Given the description of an element on the screen output the (x, y) to click on. 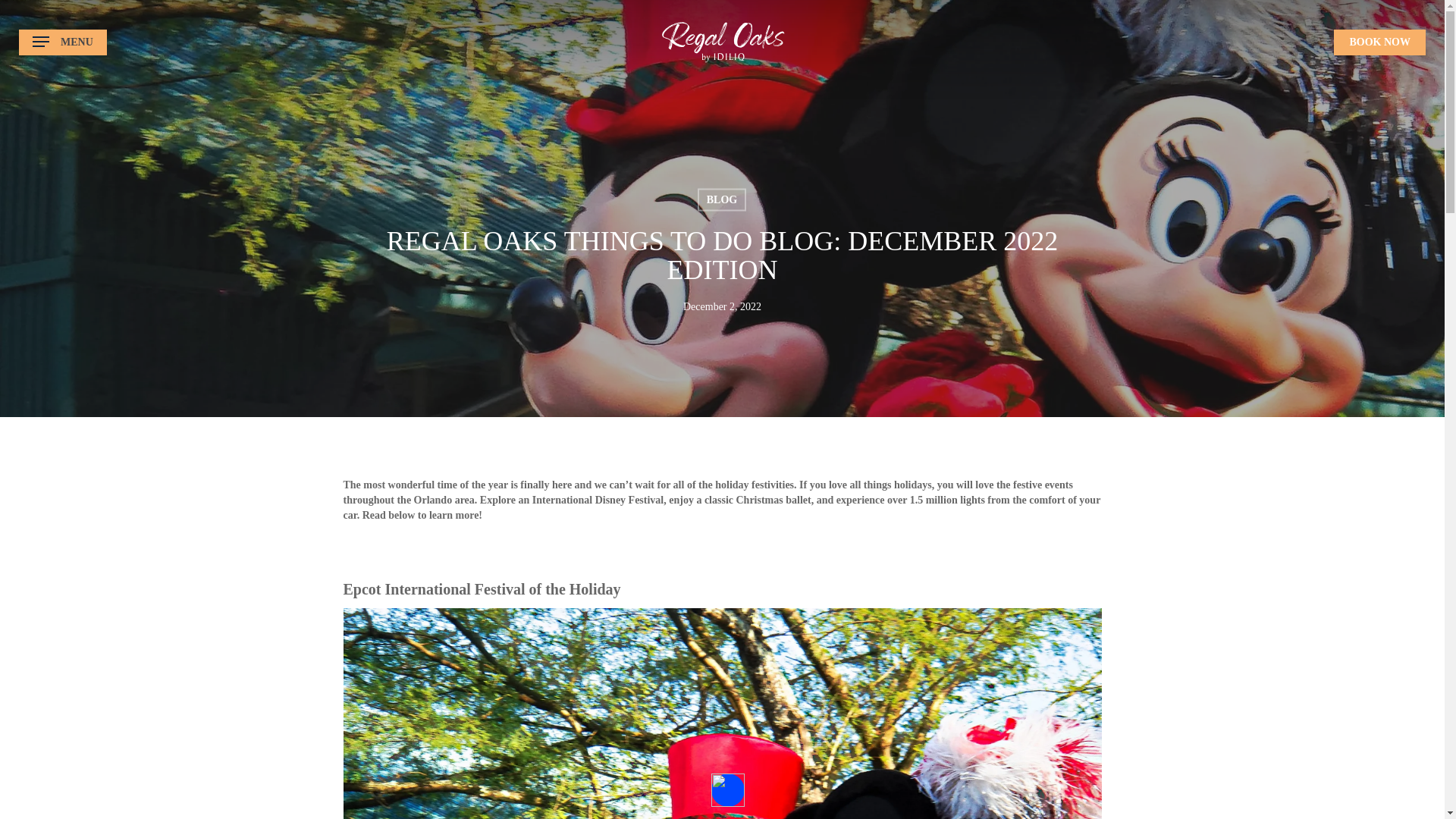
MENU (62, 41)
BLOG (721, 199)
BOOK NOW (1379, 41)
Accessibility Menu (727, 789)
